Given the description of an element on the screen output the (x, y) to click on. 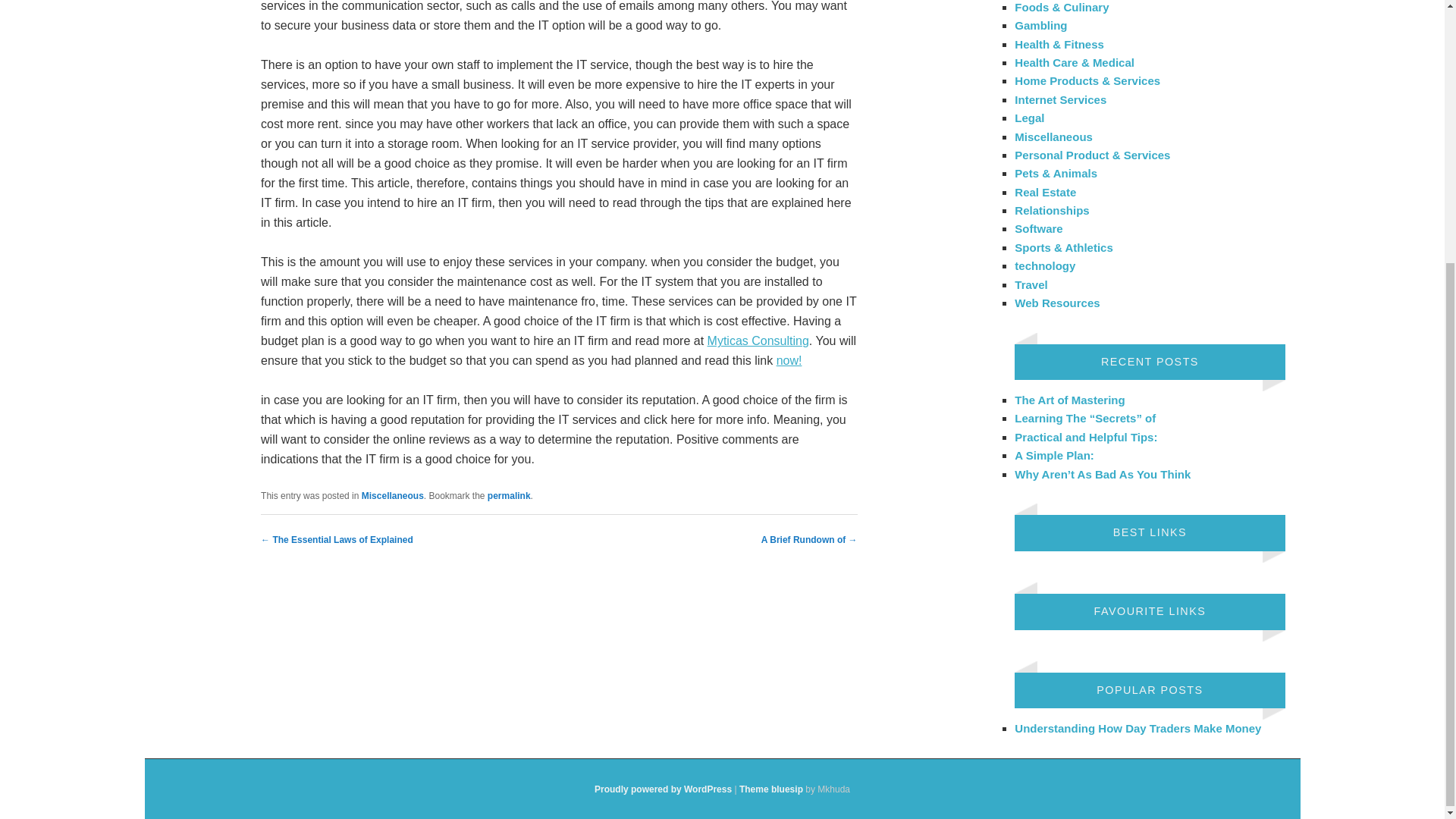
Miscellaneous (392, 495)
Internet Services (1060, 99)
Miscellaneous (1053, 136)
permalink (509, 495)
Travel (1030, 283)
Real Estate (1044, 192)
Myticas Consulting (758, 340)
technology (1044, 265)
Understanding How Day Traders Make Money (1137, 727)
now! (789, 359)
